Given the description of an element on the screen output the (x, y) to click on. 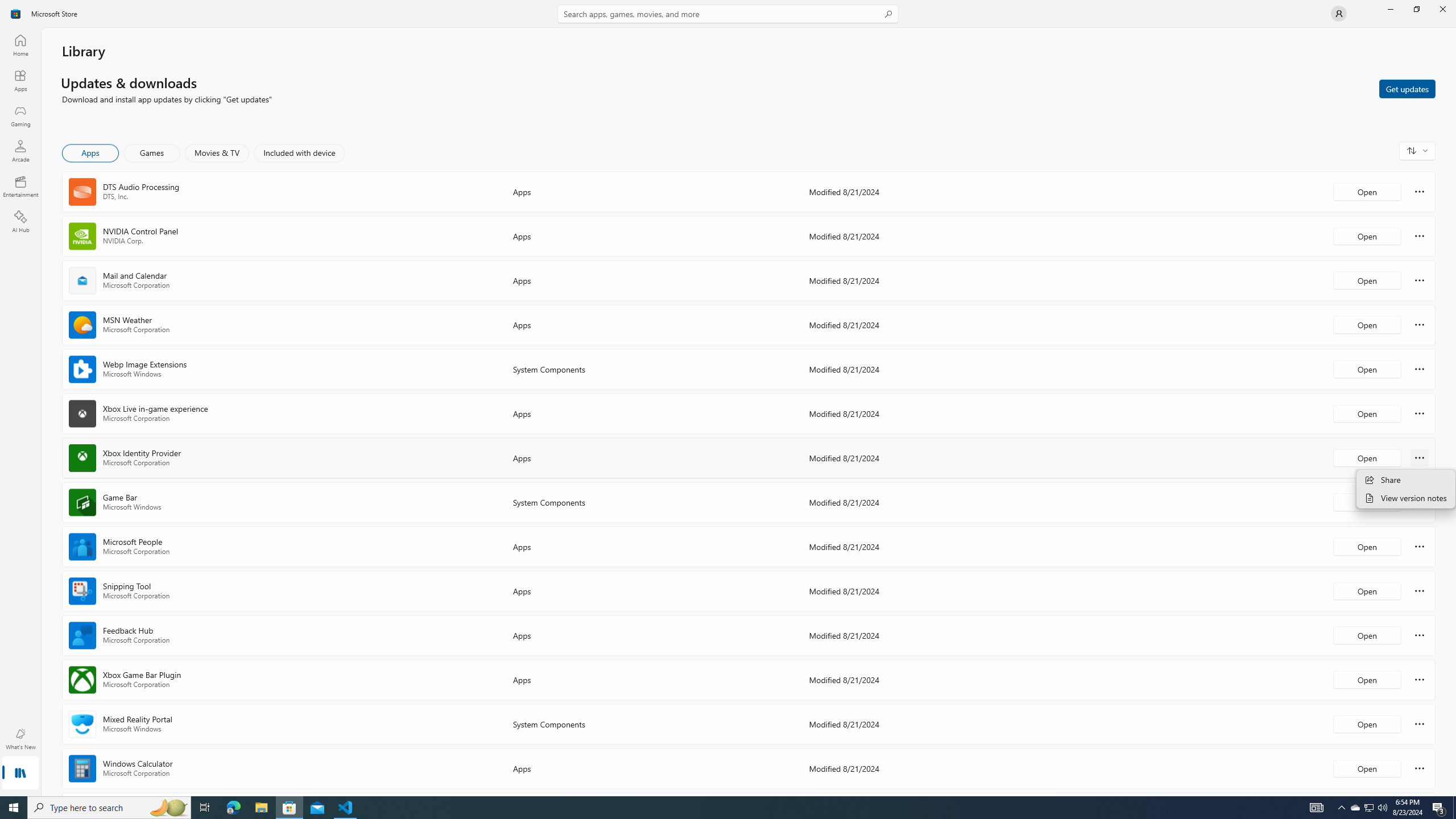
Apps (90, 153)
What's New (20, 738)
Gaming (20, 115)
AutomationID: NavigationControl (728, 398)
Get updates (1406, 88)
AI Hub (20, 221)
Entertainment (20, 185)
Open (1366, 768)
Apps (20, 80)
Minimize Microsoft Store (1390, 9)
Movies & TV (216, 153)
More options (1419, 768)
Games (151, 153)
Restore Microsoft Store (1416, 9)
Class: Image (15, 13)
